Given the description of an element on the screen output the (x, y) to click on. 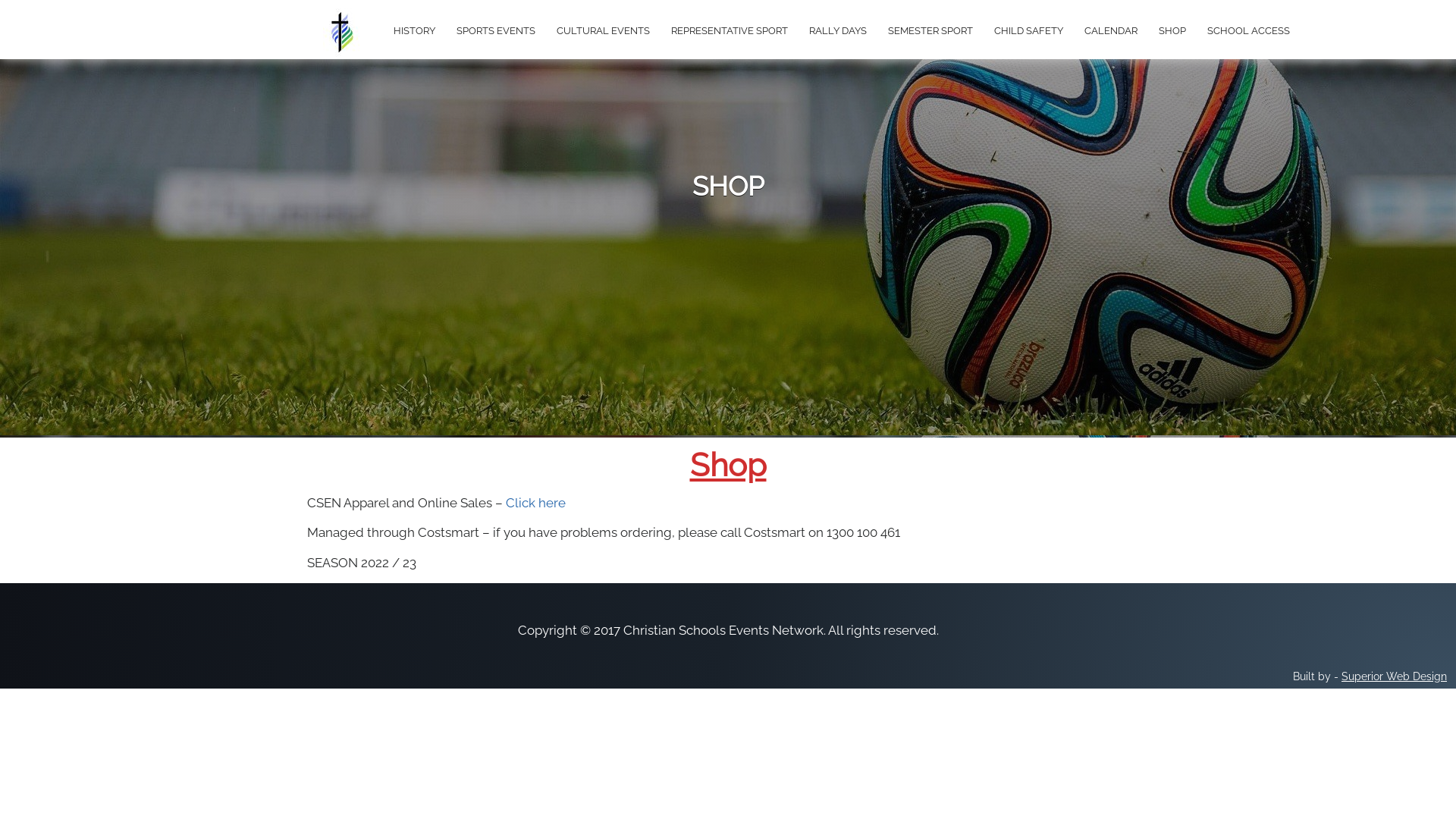
CULTURAL EVENTS Element type: text (603, 30)
SPORTS EVENTS Element type: text (495, 30)
SCHOOL ACCESS Element type: text (1248, 30)
Superior Web Design Element type: text (1393, 676)
SHOP Element type: text (1172, 30)
RALLY DAYS Element type: text (837, 30)
SEMESTER SPORT Element type: text (930, 30)
REPRESENTATIVE SPORT Element type: text (729, 30)
CSEN Element type: hover (342, 29)
CHILD SAFETY Element type: text (1028, 30)
HISTORY Element type: text (413, 30)
CALENDAR Element type: text (1110, 30)
Click here Element type: text (535, 502)
